Given the description of an element on the screen output the (x, y) to click on. 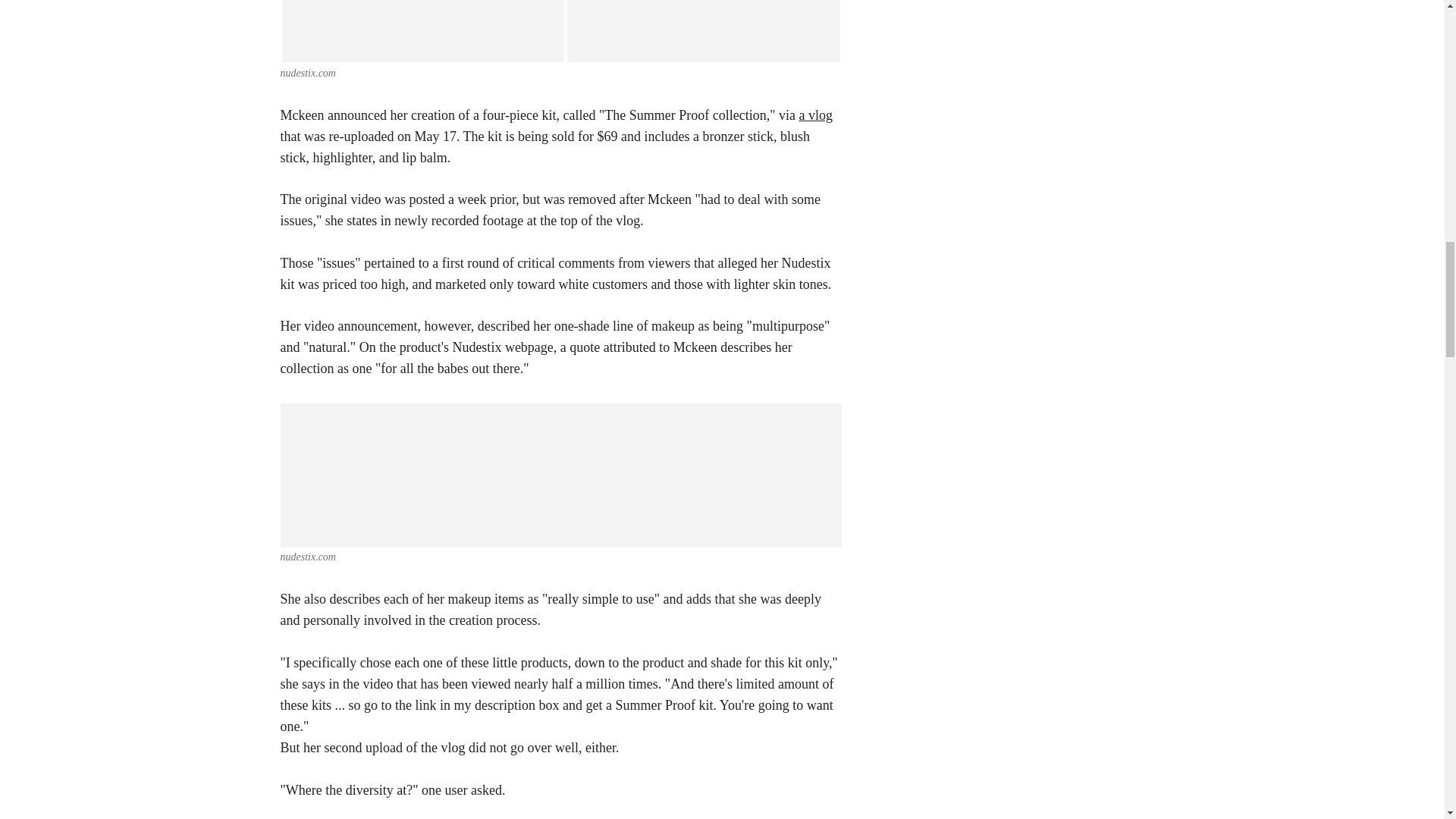
nudestix.com (308, 72)
nudestix.com (308, 556)
a vlog (815, 114)
